Given the description of an element on the screen output the (x, y) to click on. 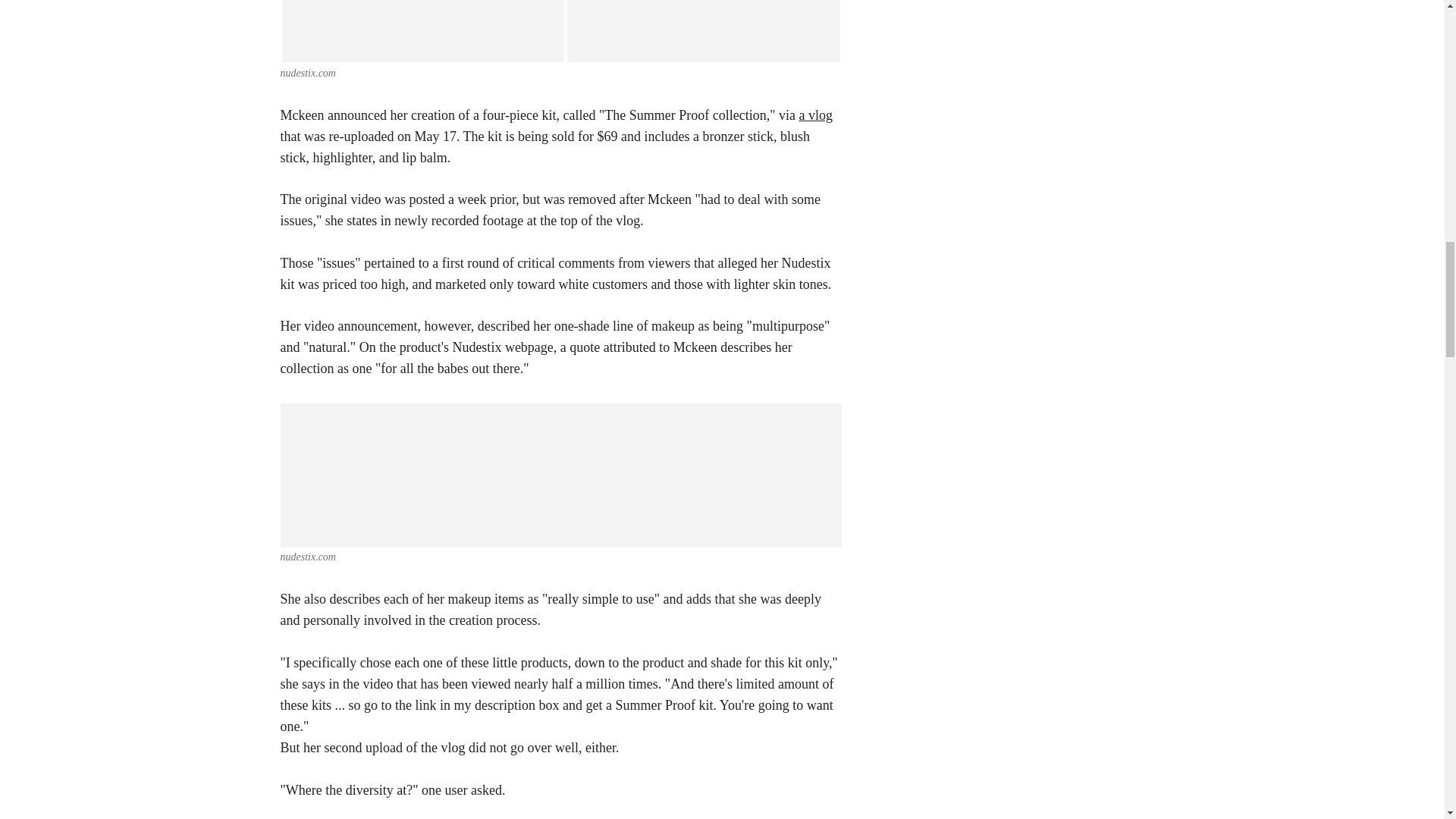
nudestix.com (308, 72)
nudestix.com (308, 556)
a vlog (815, 114)
